Given the description of an element on the screen output the (x, y) to click on. 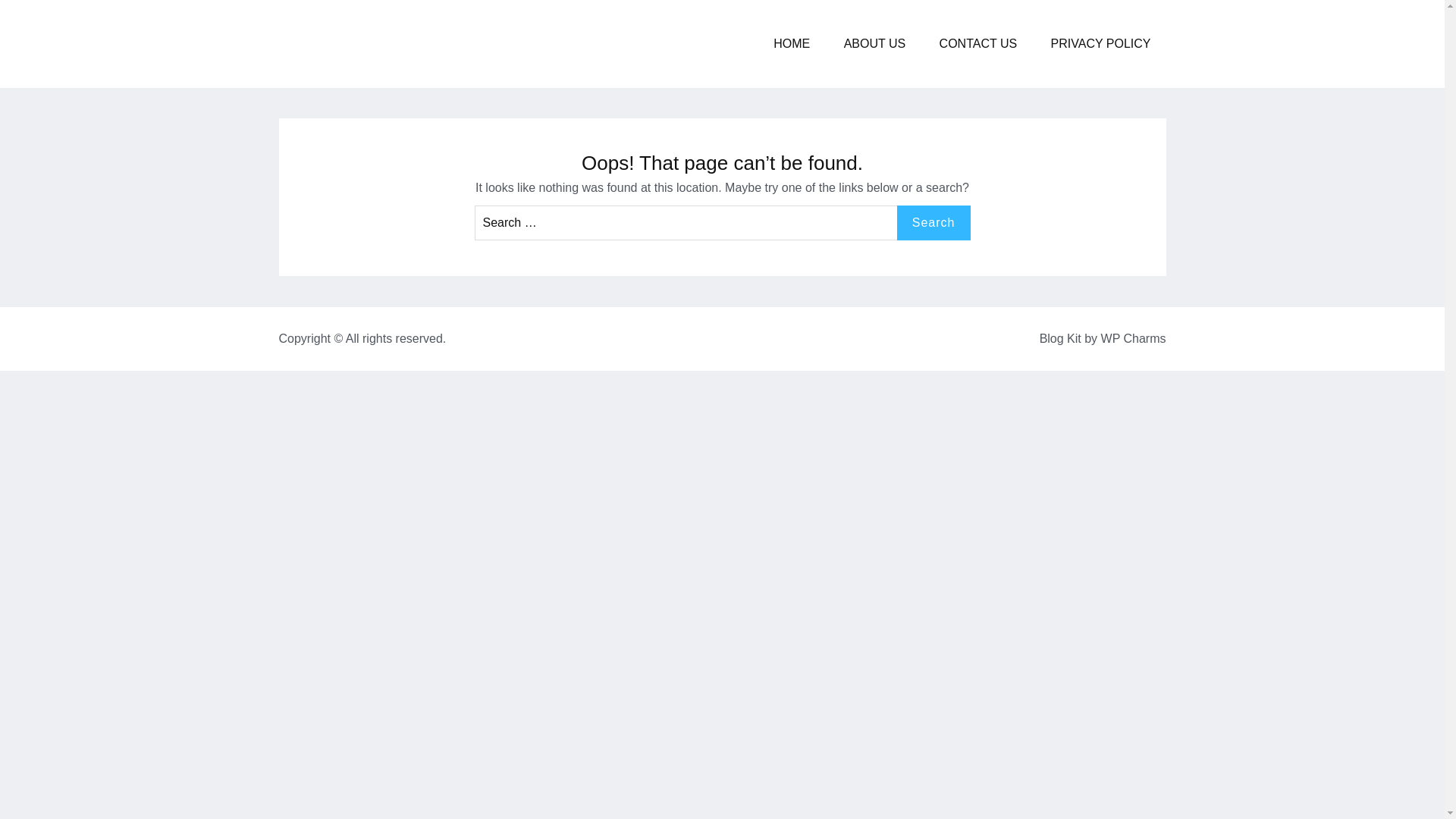
Search (933, 222)
PRIVACY POLICY (1100, 43)
CONTACT US (978, 43)
WP Charms (1133, 338)
Search (933, 222)
Search (933, 222)
ABOUT US (874, 43)
